Given the description of an element on the screen output the (x, y) to click on. 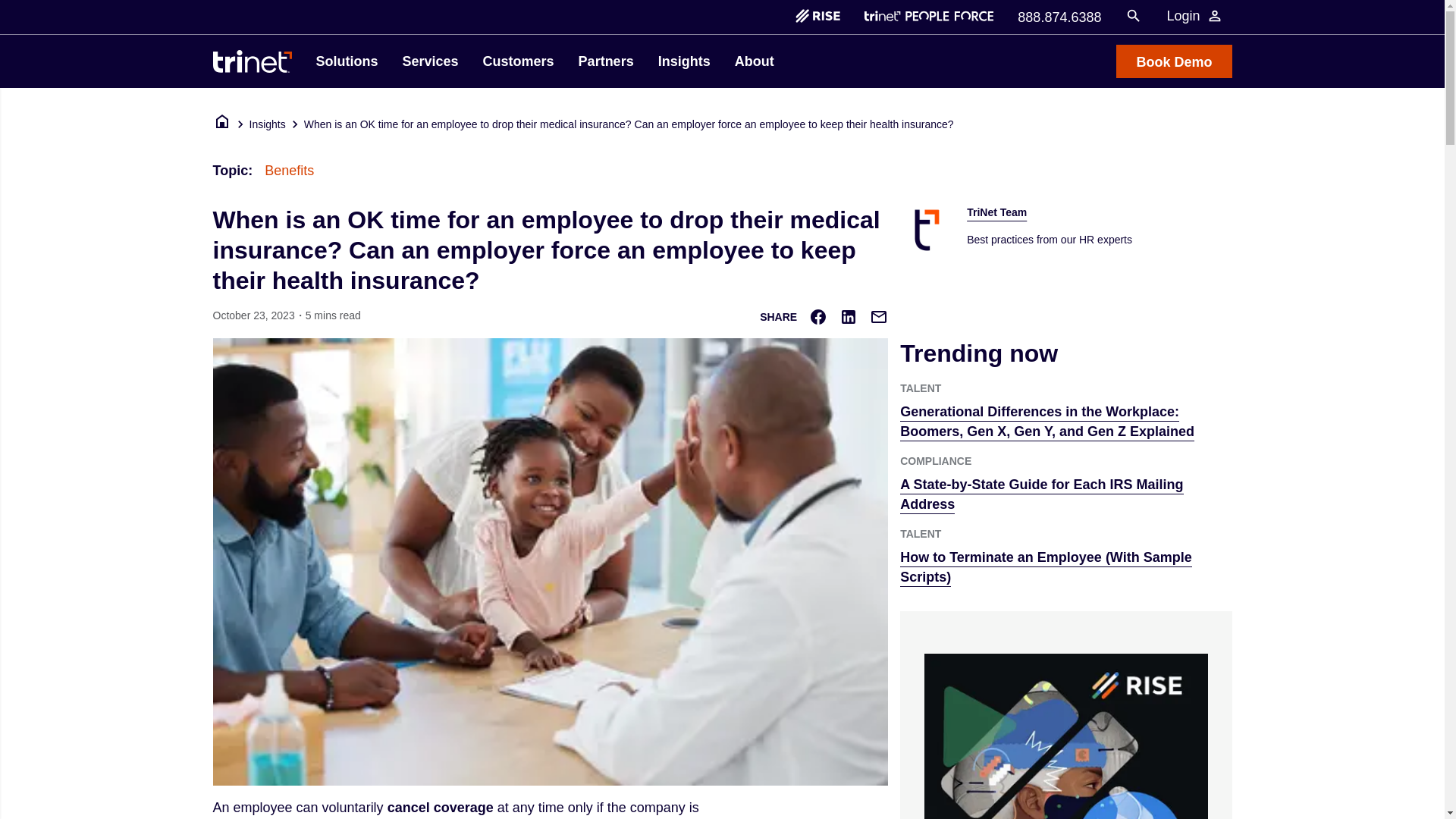
Share via Email (878, 316)
Insights (266, 124)
888.874.6388 (1059, 15)
Share on LinkedIn (848, 316)
Partners (606, 61)
Solutions (346, 61)
Book Demo (1173, 61)
Customers (518, 61)
Services (430, 61)
Share on Facebook (818, 316)
Insights (684, 61)
About (754, 61)
